Given the description of an element on the screen output the (x, y) to click on. 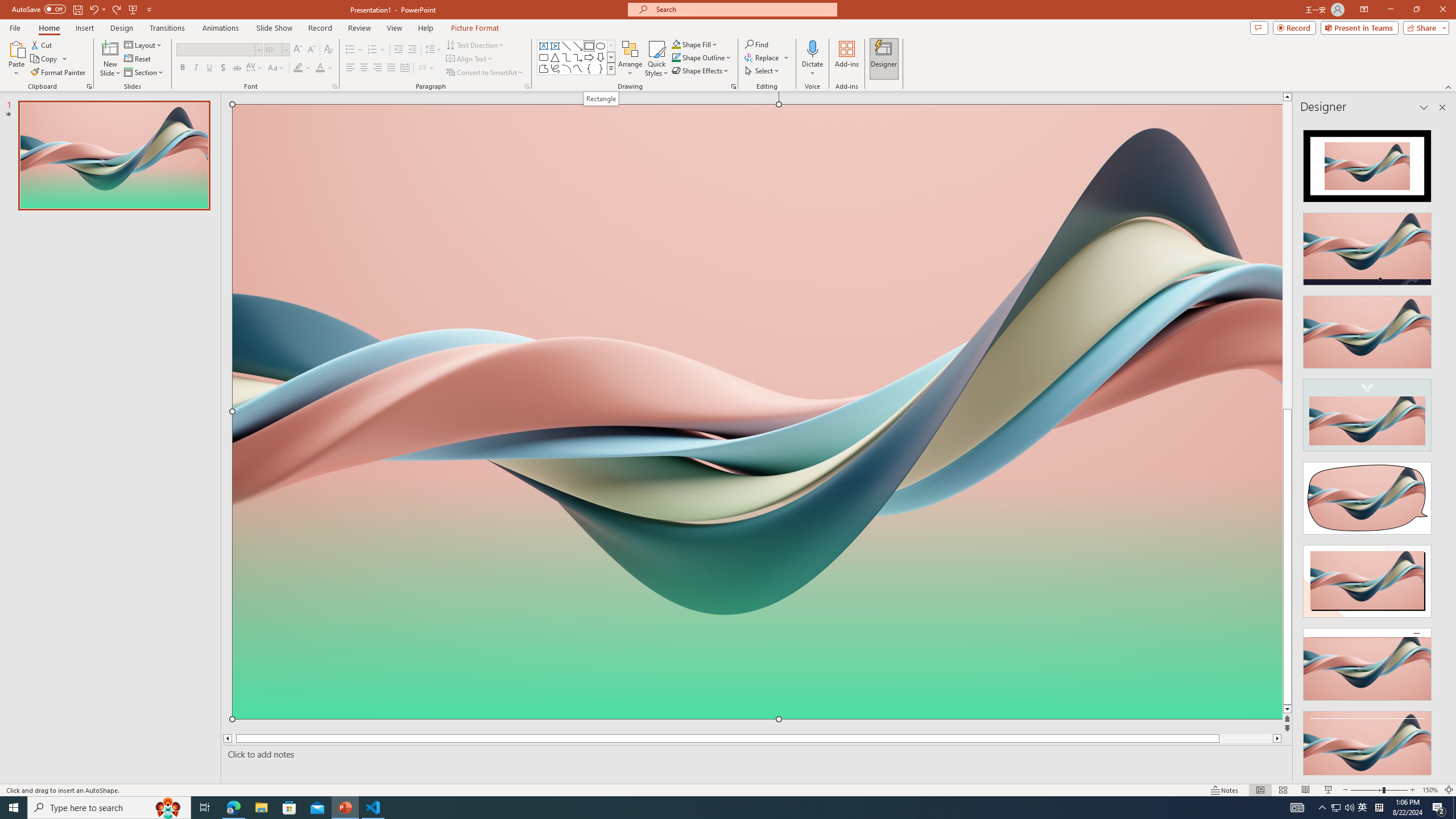
Picture Format (475, 28)
Shape Fill Orange, Accent 2 (675, 44)
Decorative Locked (757, 579)
